Given the description of an element on the screen output the (x, y) to click on. 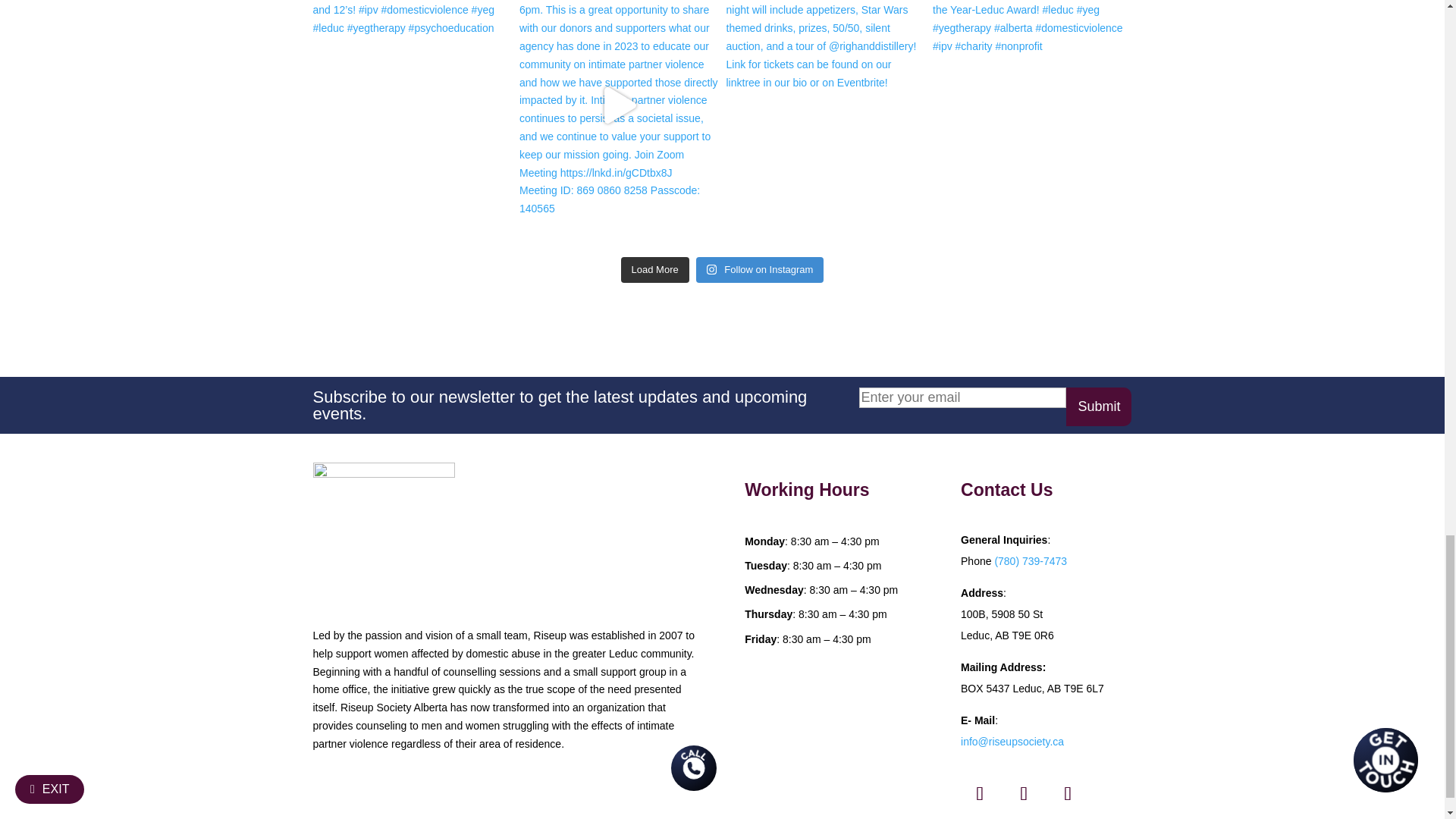
Submit (1098, 406)
746 (383, 533)
Follow on Instagram (1023, 793)
Follow on X (979, 793)
Follow on LinkedIn (1067, 793)
